Given the description of an element on the screen output the (x, y) to click on. 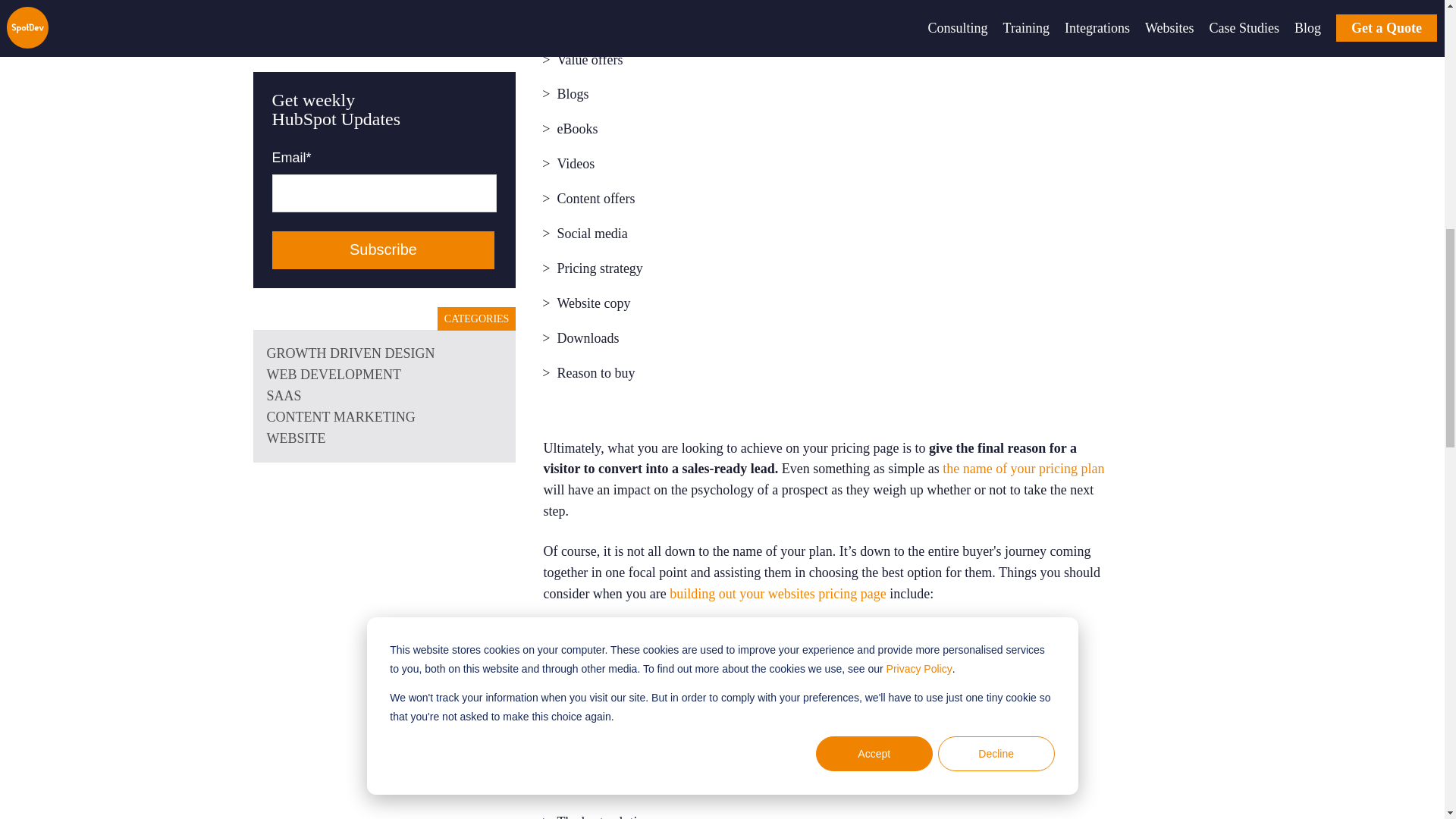
WEBSITE (384, 7)
building out your websites pricing page (777, 593)
the name of your pricing plan (1022, 468)
